Given the description of an element on the screen output the (x, y) to click on. 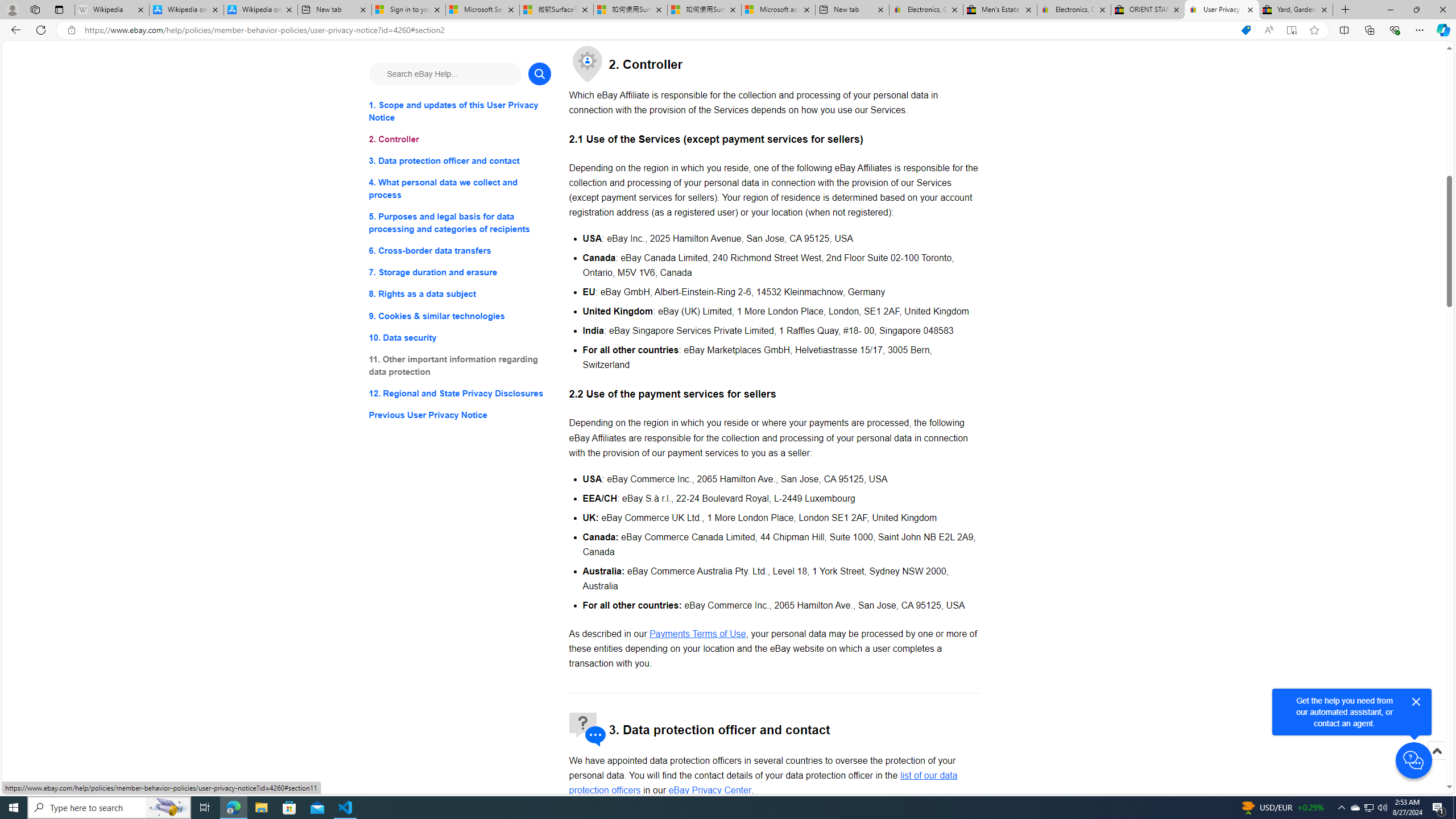
10. Data security (459, 336)
12. Regional and State Privacy Disclosures (459, 392)
Previous User Privacy Notice (459, 414)
8. Rights as a data subject (459, 293)
Search eBay Help... (444, 73)
9. Cookies & similar technologies (459, 315)
2. Controller (459, 138)
